Given the description of an element on the screen output the (x, y) to click on. 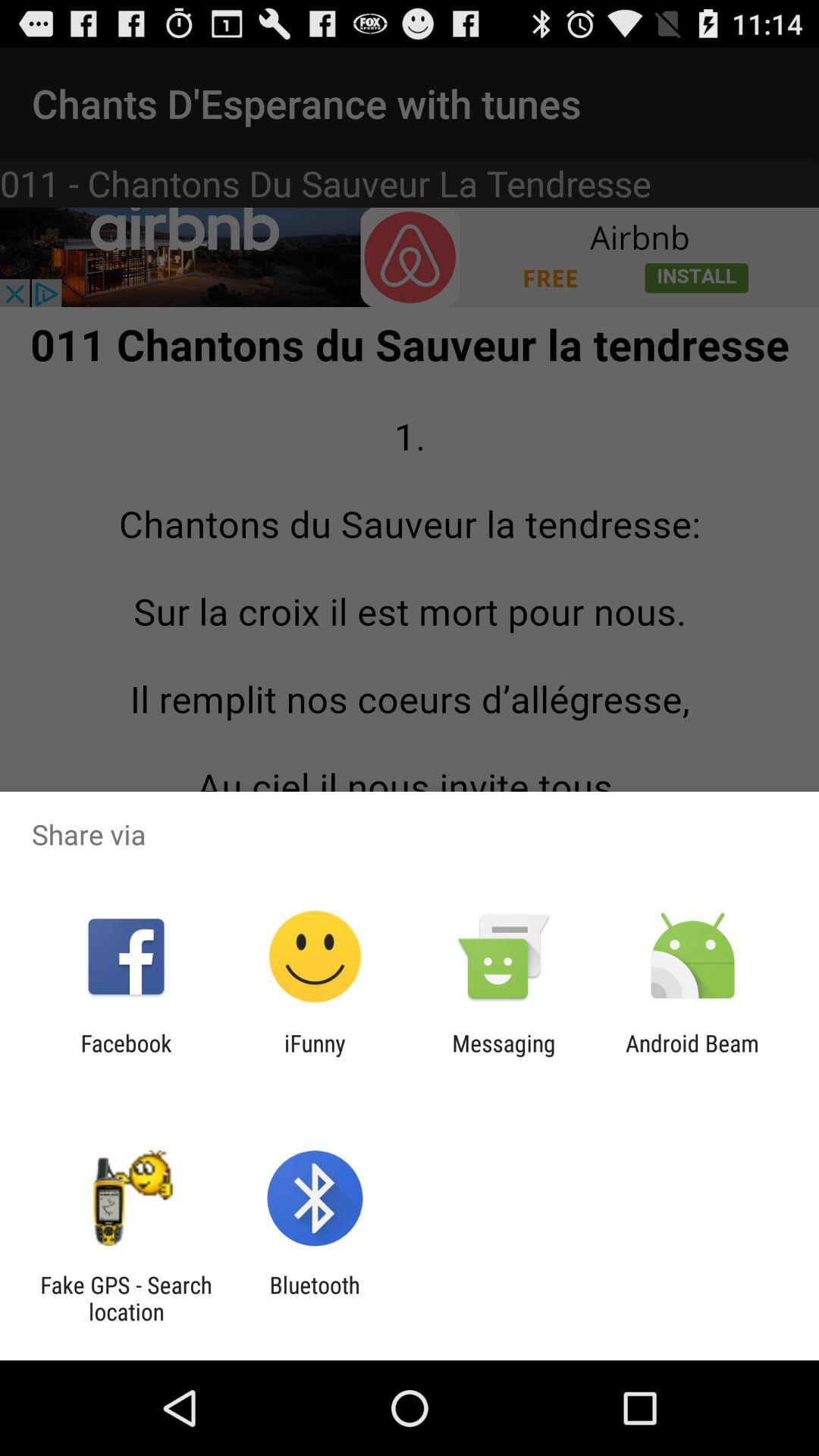
click the icon to the right of messaging item (692, 1056)
